Given the description of an element on the screen output the (x, y) to click on. 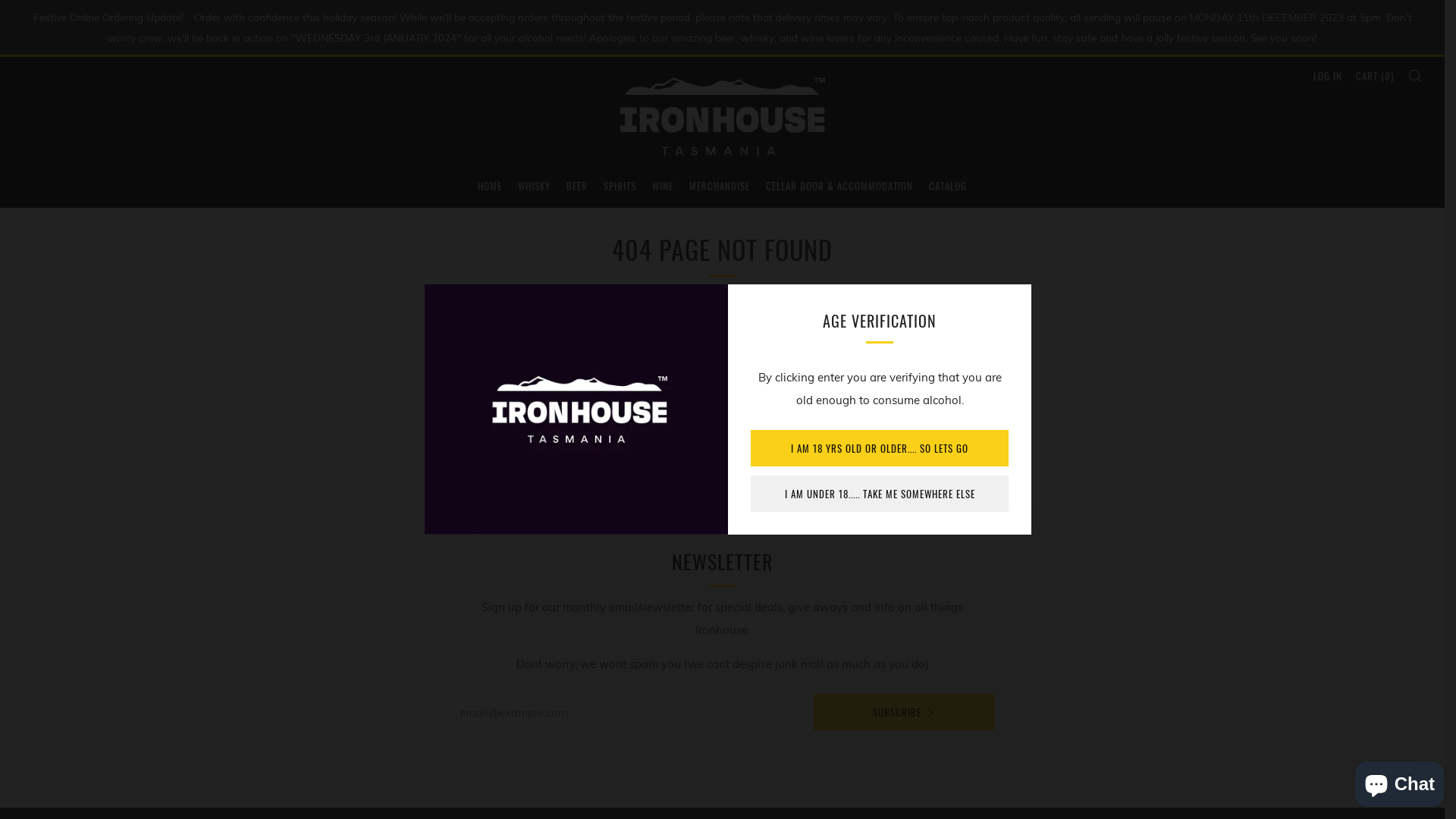
I AM 18 YRS OLD OR OLDER.... SO LETS GO Element type: text (879, 447)
CART (0) Element type: text (1374, 75)
CELLAR DOOR & ACCOMMODATION Element type: text (839, 185)
LOG IN Element type: text (1327, 75)
CONTINUE SHOPPING Element type: text (722, 447)
SEARCH Element type: text (1414, 74)
I AM UNDER 18..... TAKE ME SOMEWHERE ELSE Element type: text (879, 493)
SPIRITS Element type: text (619, 185)
BEER Element type: text (576, 185)
HOME Element type: text (489, 185)
SUBSCRIBE Element type: text (903, 711)
Shopify online store chat Element type: hover (1399, 780)
WHISKY Element type: text (533, 185)
MERCHANDISE Element type: text (719, 185)
WINE Element type: text (662, 185)
CATALOG Element type: text (947, 185)
